Given the description of an element on the screen output the (x, y) to click on. 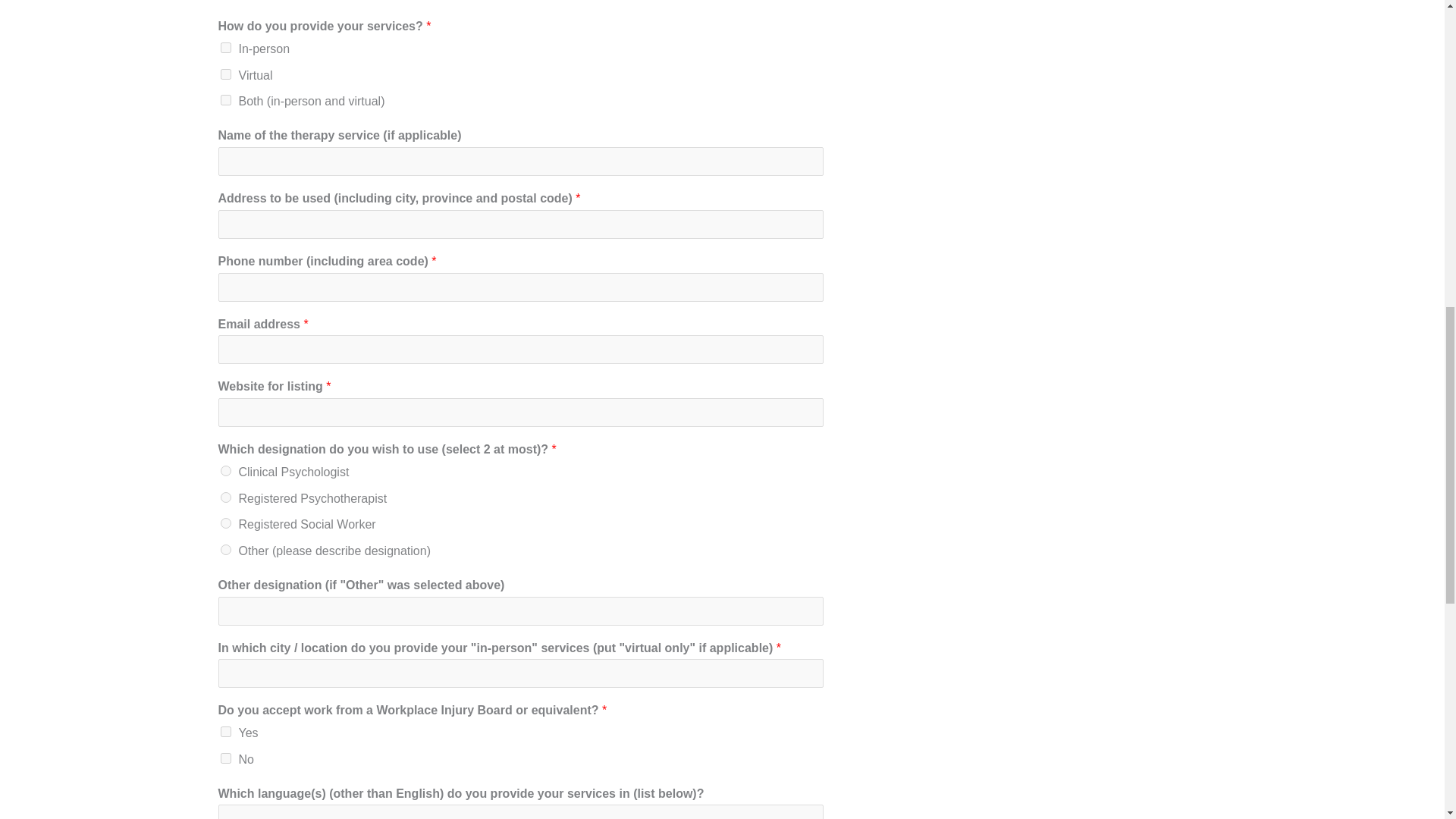
Registered Psychotherapist (224, 497)
Clinical Psychologist (224, 470)
Registered Social Worker (224, 522)
Virtual (224, 73)
No (224, 757)
In-person (224, 47)
Yes (224, 731)
